Given the description of an element on the screen output the (x, y) to click on. 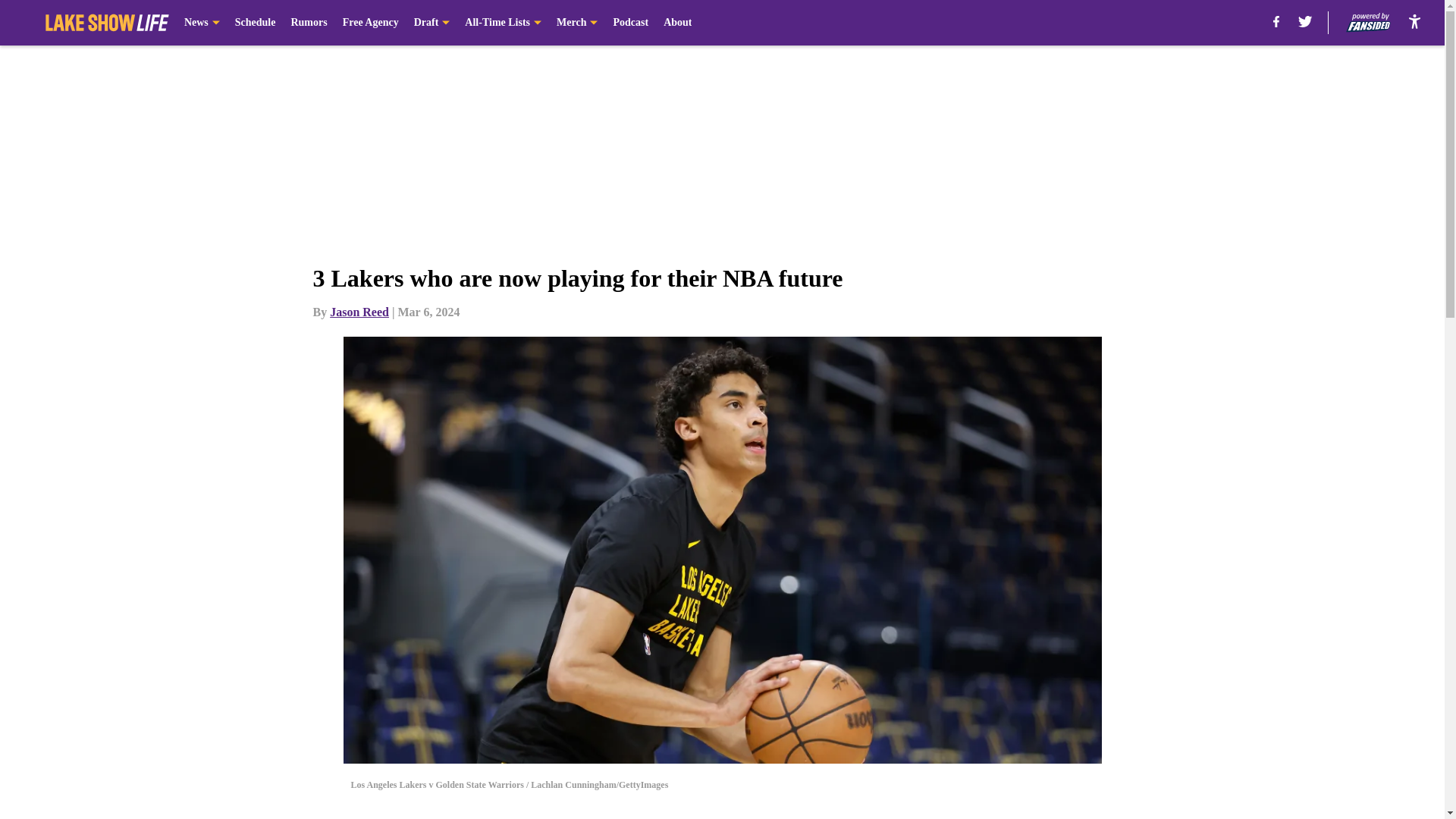
About (677, 22)
Free Agency (370, 22)
News (201, 22)
Draft (431, 22)
Schedule (255, 22)
Jason Reed (359, 311)
Podcast (629, 22)
All-Time Lists (502, 22)
Rumors (307, 22)
